Given the description of an element on the screen output the (x, y) to click on. 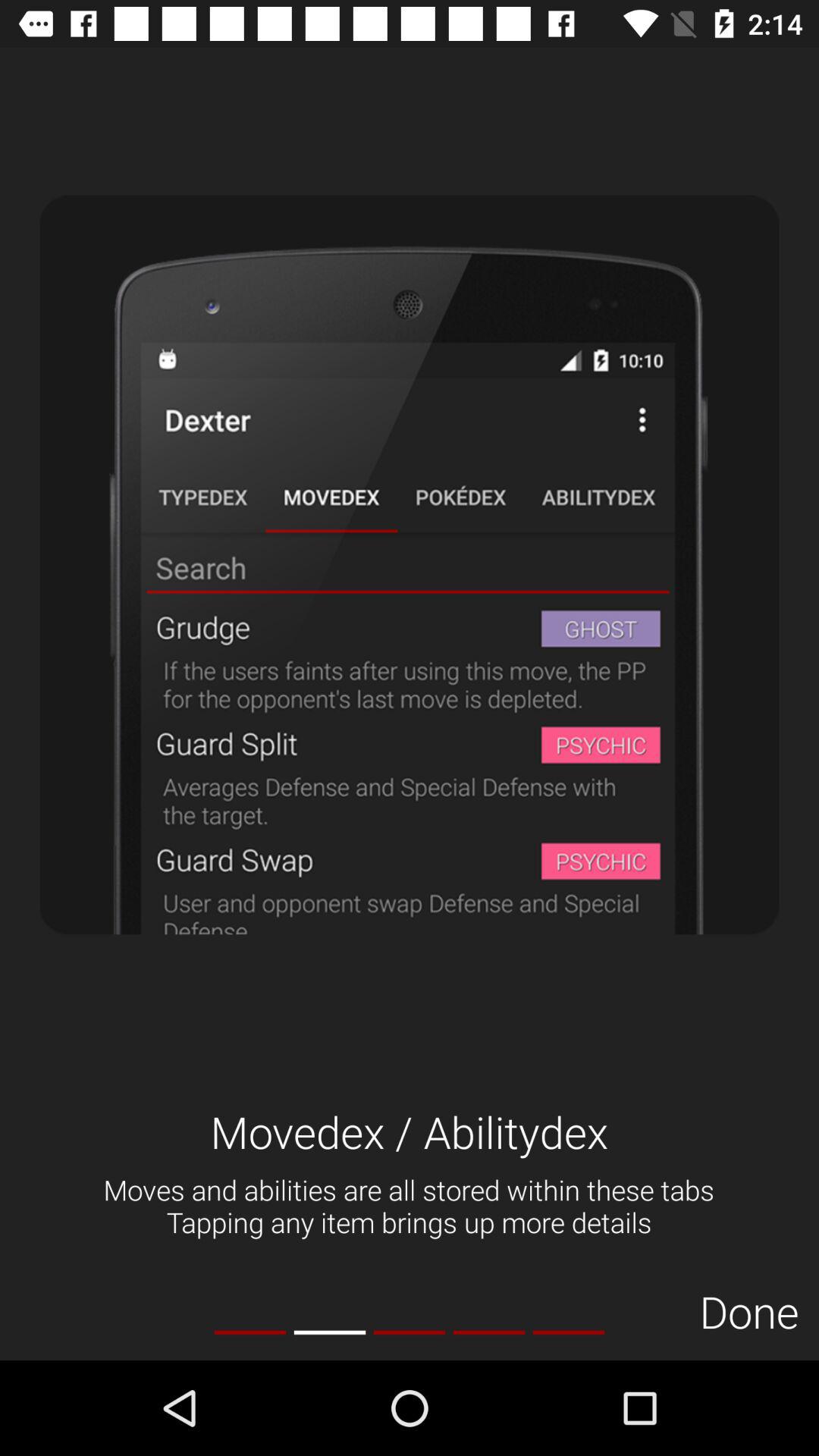
launch done app (749, 1311)
